Given the description of an element on the screen output the (x, y) to click on. 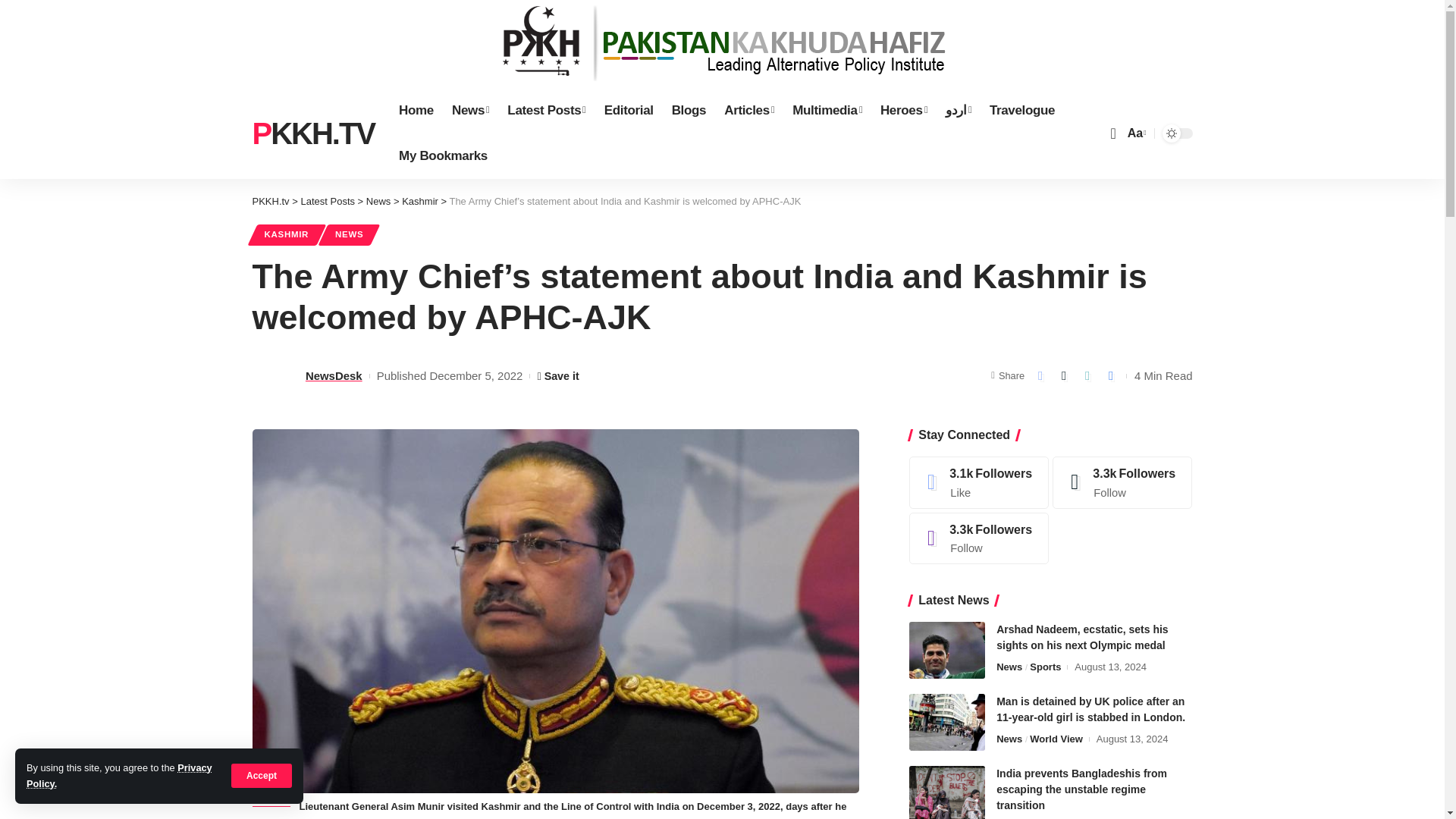
Blogs (689, 110)
Go to the Kashmir Category archives. (419, 201)
Home (416, 110)
Privacy Policy. (119, 775)
Multimedia (826, 110)
Articles (748, 110)
PKKH.TV (312, 133)
Go to the News Category archives. (378, 201)
